Given the description of an element on the screen output the (x, y) to click on. 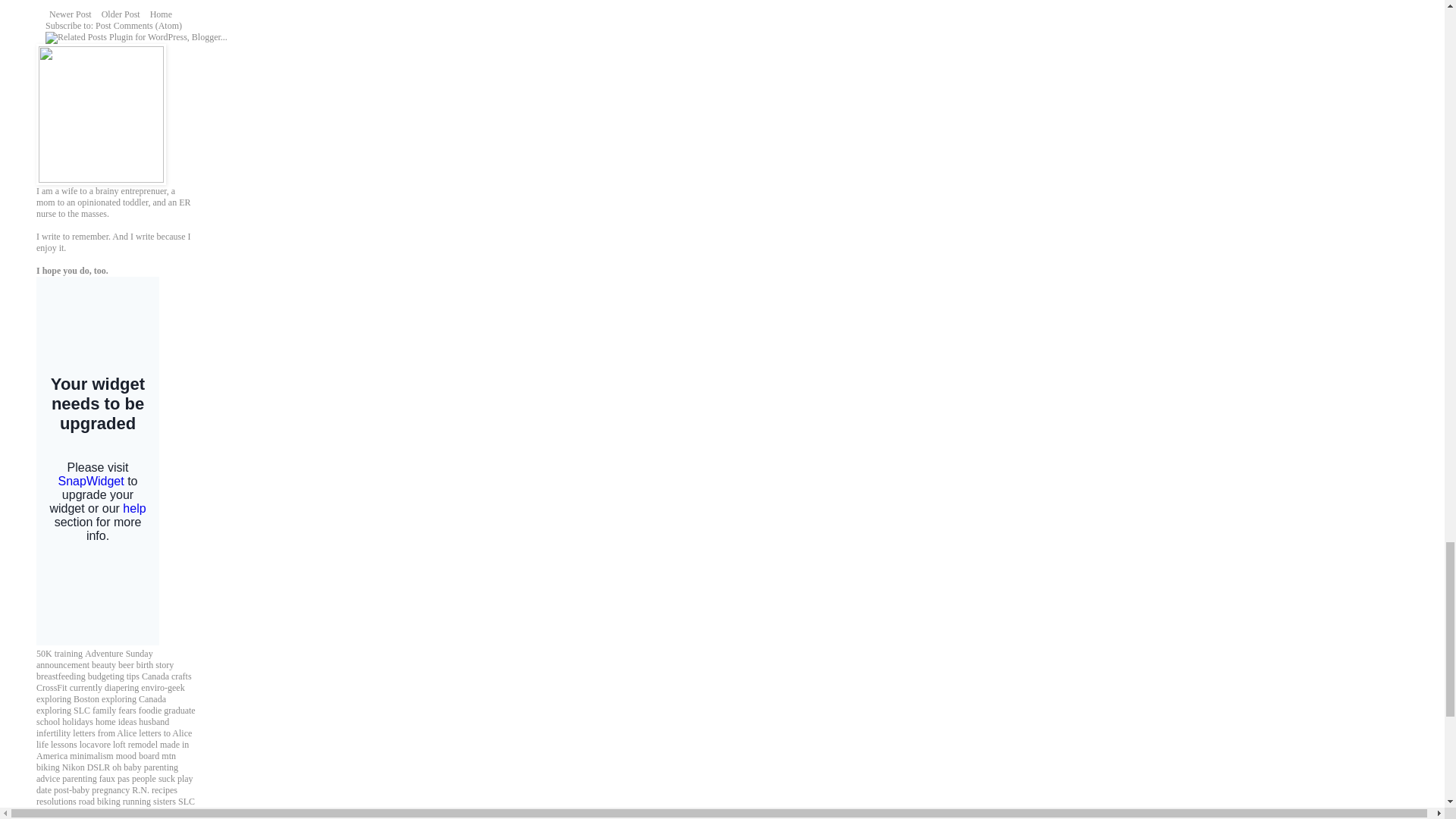
announcement (62, 665)
birth story (155, 665)
breastfeeding (60, 675)
50K training (59, 653)
beer (125, 665)
Home (161, 13)
Adventure Sunday (118, 653)
Newer Post (70, 13)
beauty (103, 665)
Older Post (120, 13)
Newer Post (70, 13)
Older Post (120, 13)
